Given the description of an element on the screen output the (x, y) to click on. 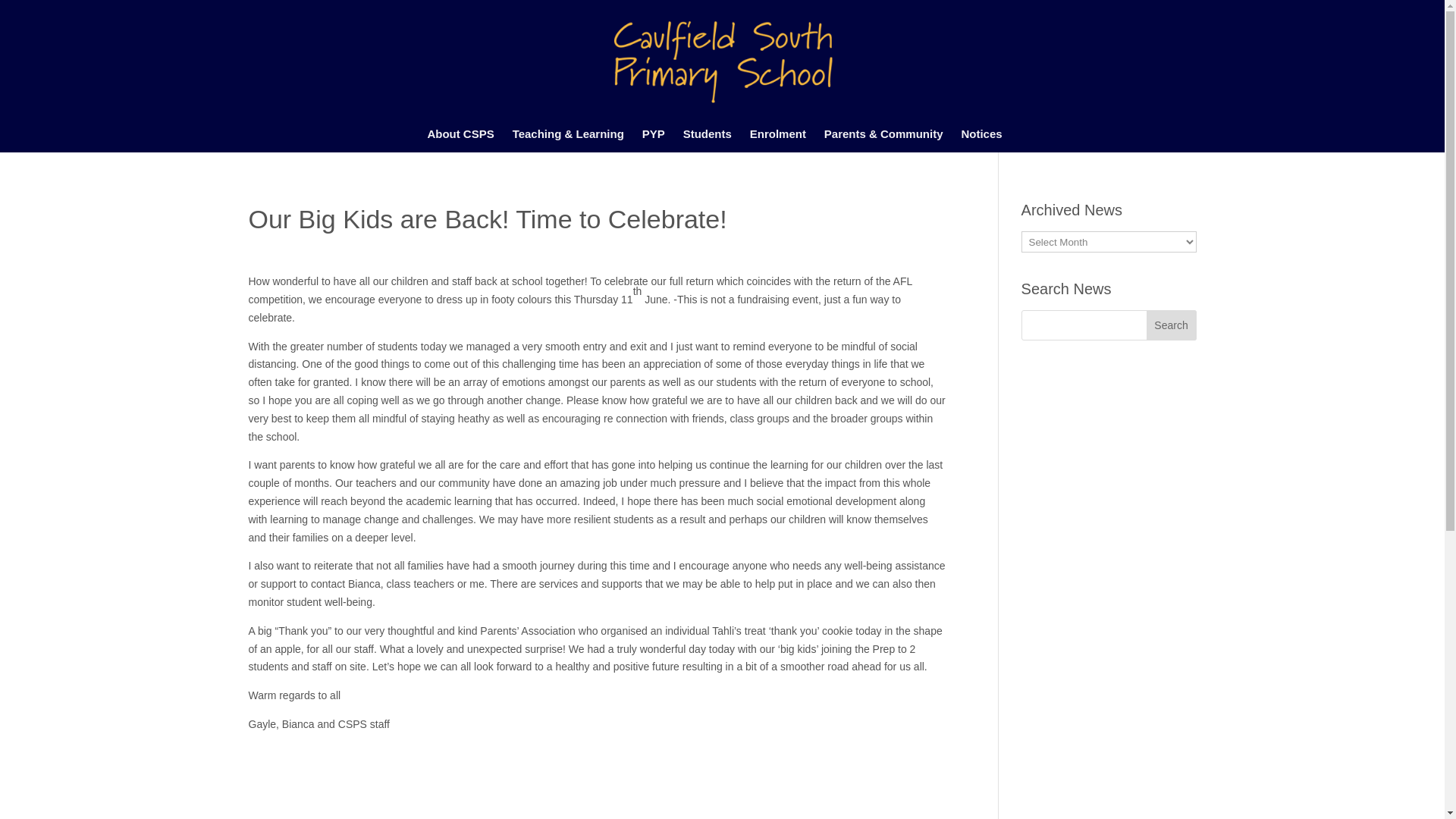
PYP (660, 140)
Students (714, 140)
About CSPS (467, 140)
Enrolment (785, 140)
Search (1171, 325)
